Given the description of an element on the screen output the (x, y) to click on. 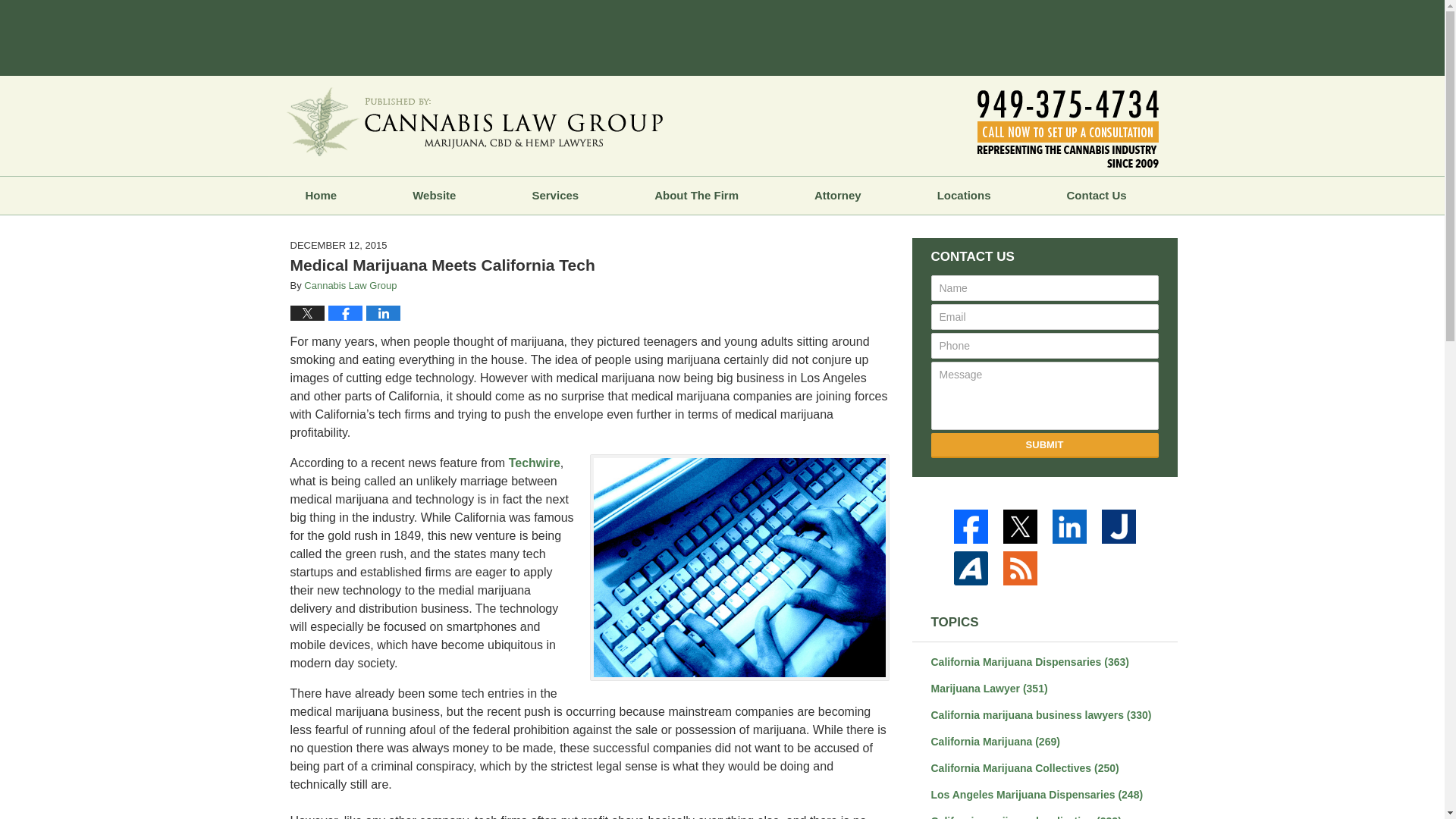
Services (554, 195)
Justia (1120, 526)
Cannabis Law Group's Medical Marijuana Legal Blog (474, 121)
Please enter a valid phone number. (1044, 345)
Home (320, 195)
Cannabis Law Group (350, 285)
Twitter (1022, 526)
About The Firm (695, 195)
Feed (1022, 568)
Facebook (972, 526)
